Given the description of an element on the screen output the (x, y) to click on. 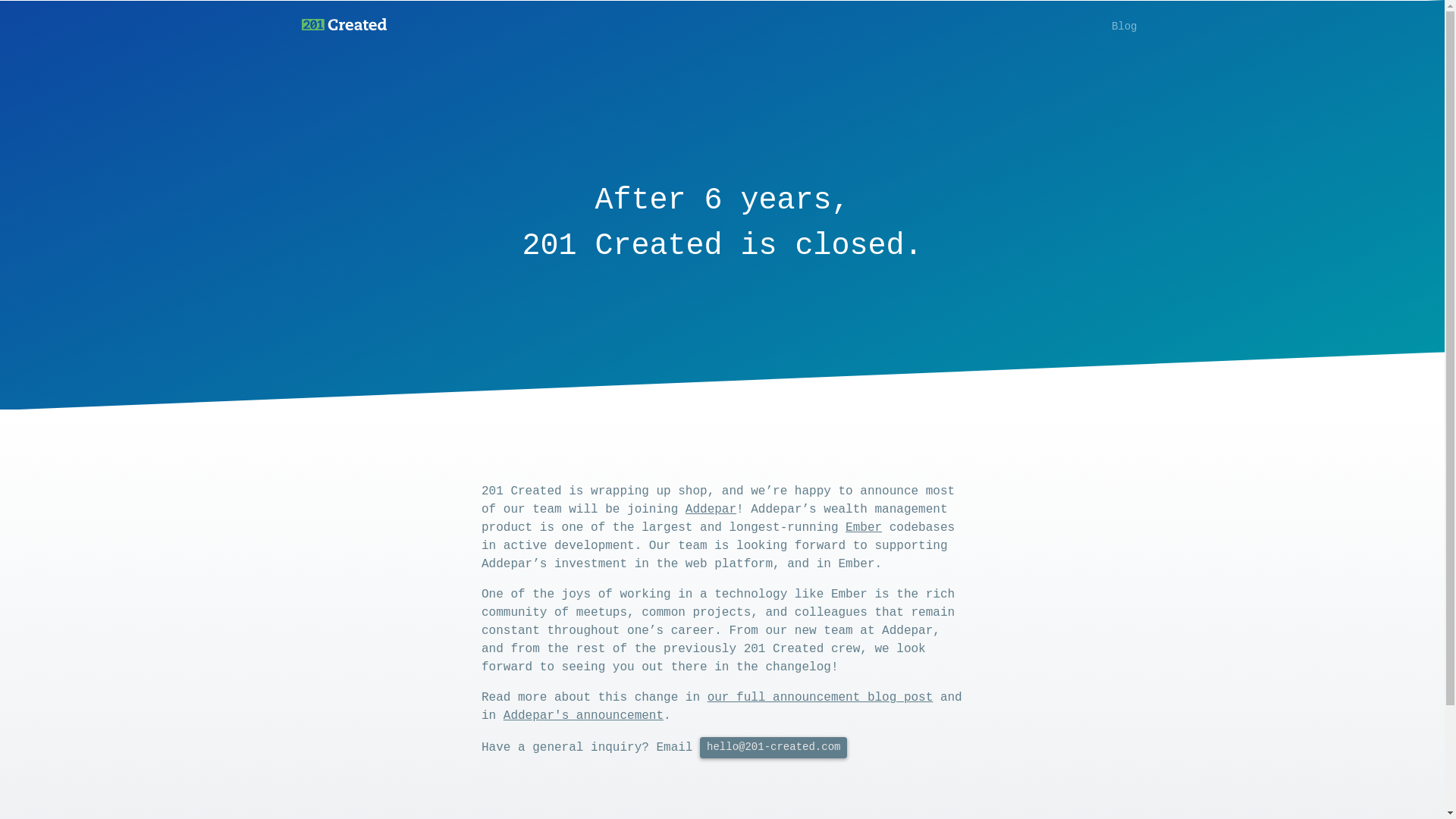
Ember Element type: text (863, 527)
Addepar Element type: text (710, 509)
hello@201-created.com Element type: text (773, 747)
Blog Element type: text (1124, 26)
201 Created Element type: text (343, 26)
Addepar's announcement Element type: text (583, 715)
our full announcement blog post Element type: text (820, 697)
